Given the description of an element on the screen output the (x, y) to click on. 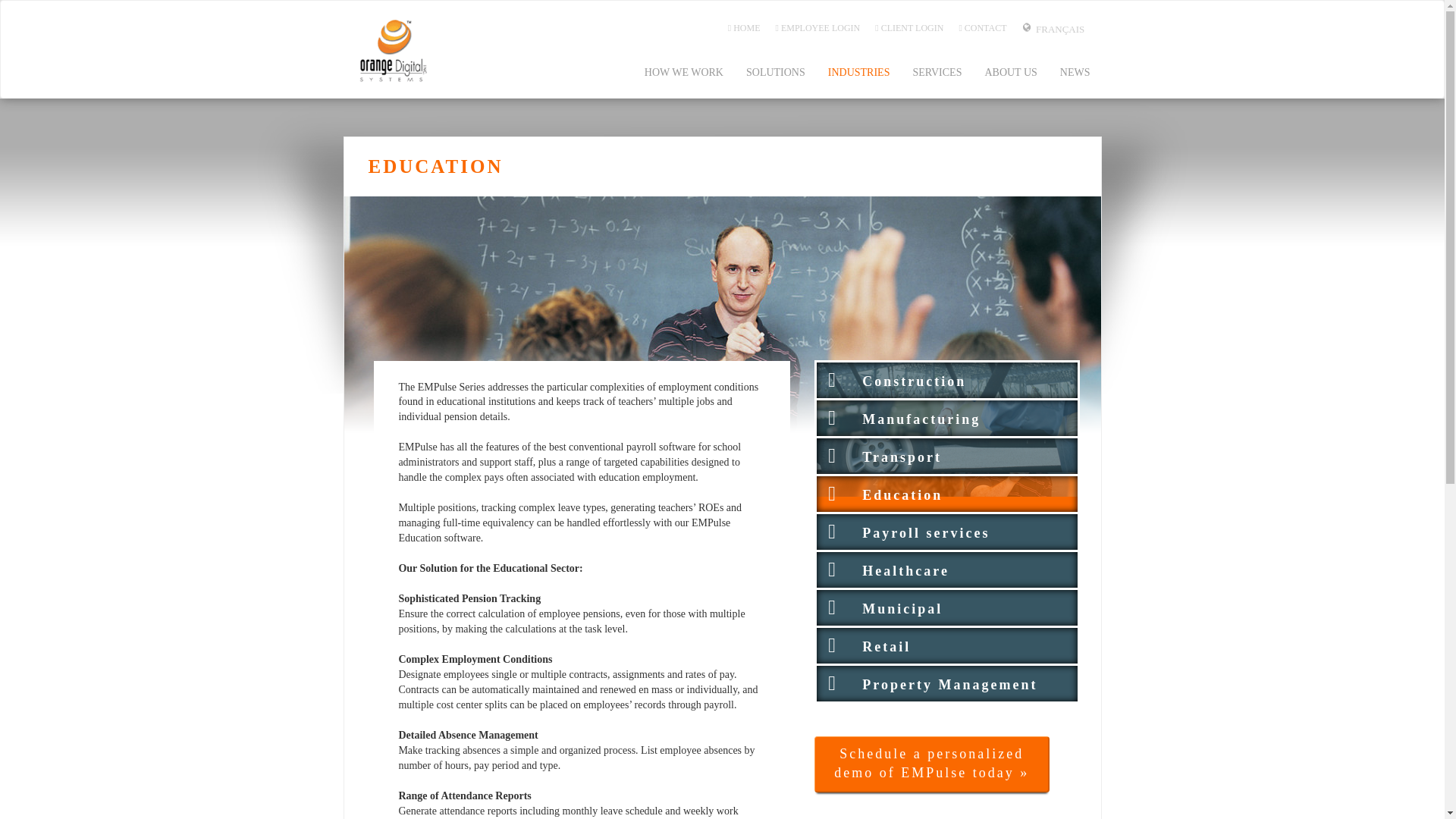
Municipal (946, 604)
NEWS (1075, 72)
CLIENT LOGIN (908, 27)
EMPLOYEE LOGIN (817, 27)
Manufacturing (946, 414)
Education (946, 490)
HOW WE WORK (684, 72)
SERVICES (936, 72)
Property Management (946, 680)
SOLUTIONS (775, 72)
INDUSTRIES (858, 72)
ABOUT US (1010, 72)
HOME (744, 27)
Healthcare (946, 566)
Transport (946, 452)
